Given the description of an element on the screen output the (x, y) to click on. 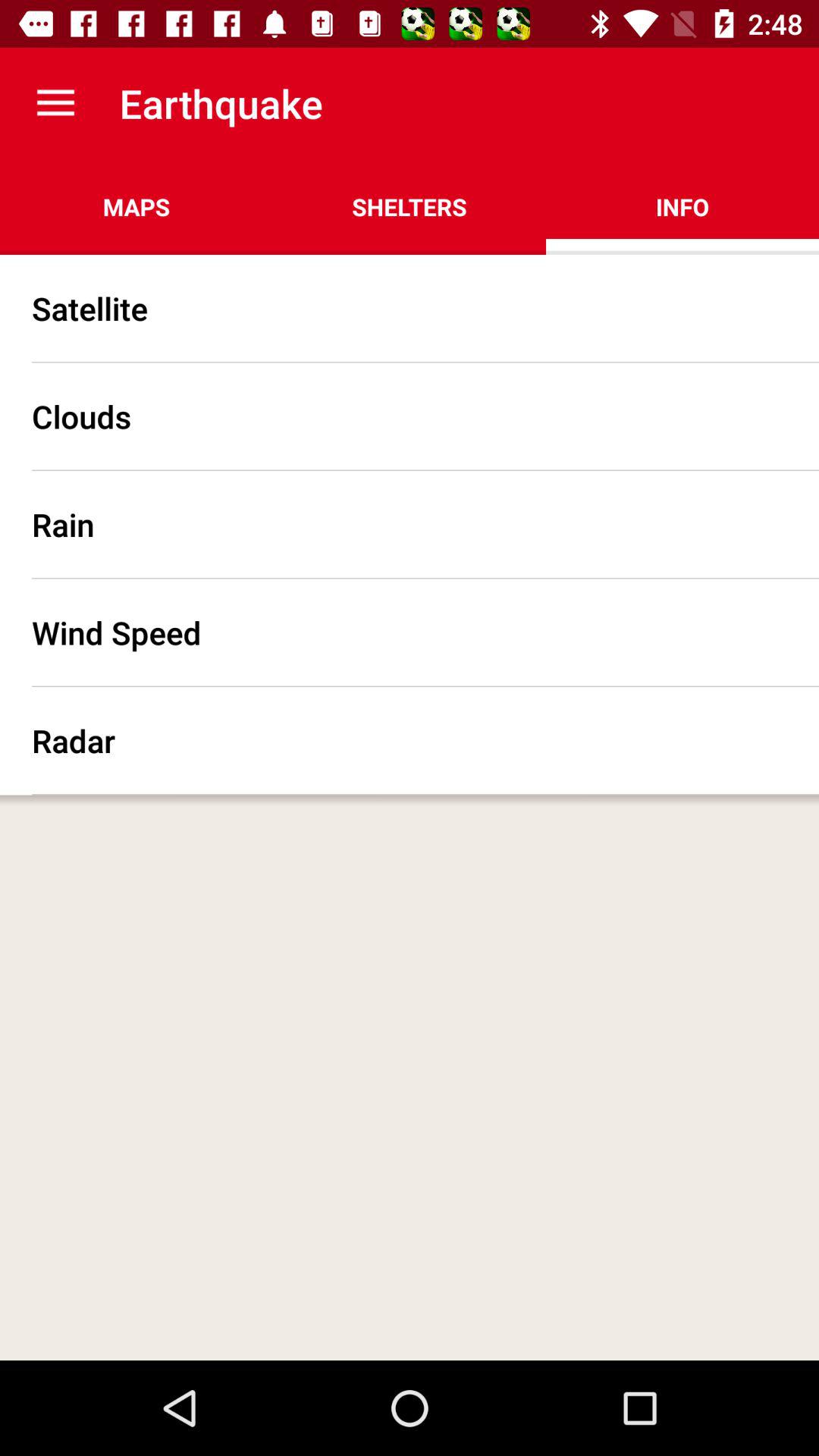
open the item next to earthquake (55, 103)
